Given the description of an element on the screen output the (x, y) to click on. 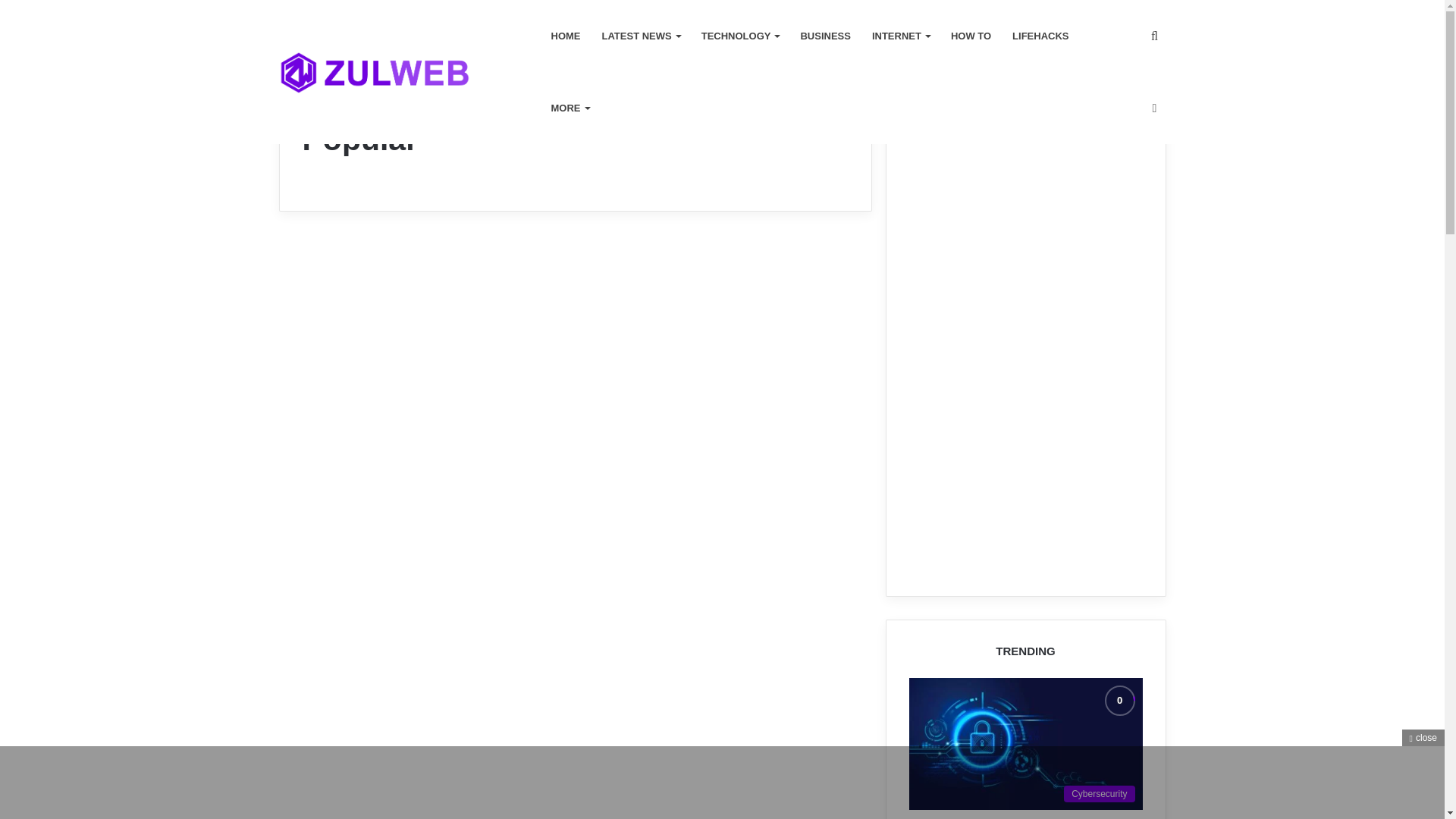
INTERNET (900, 36)
BUSINESS (824, 36)
ZULWeb (374, 72)
TECHNOLOGY (740, 36)
Cybersecurity (1025, 743)
LIFEHACKS (1039, 36)
LATEST NEWS (640, 36)
Advertisement (721, 780)
